Given the description of an element on the screen output the (x, y) to click on. 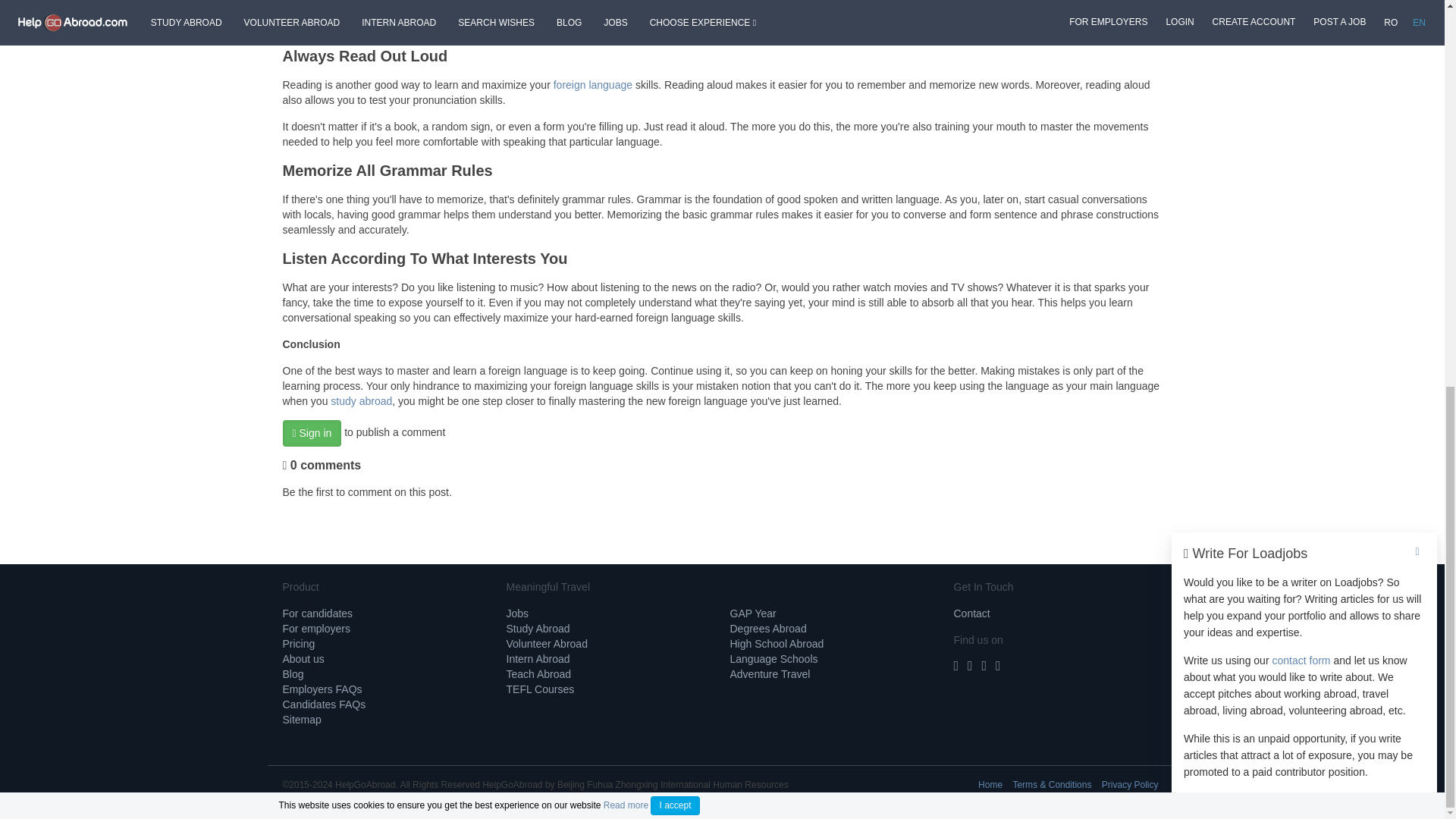
Study Abroad Programs (538, 628)
Search Jobs (517, 613)
Blog HelpGoAbroad (292, 674)
Internships Abroad (538, 658)
Sitemap (301, 719)
HelpGoAbroad Pricing (298, 644)
About HelpGoAbroad (302, 658)
HelpGoAbroad for Candidates (317, 613)
Candidates FAQs (323, 704)
Employers FAQs (321, 689)
